Given the description of an element on the screen output the (x, y) to click on. 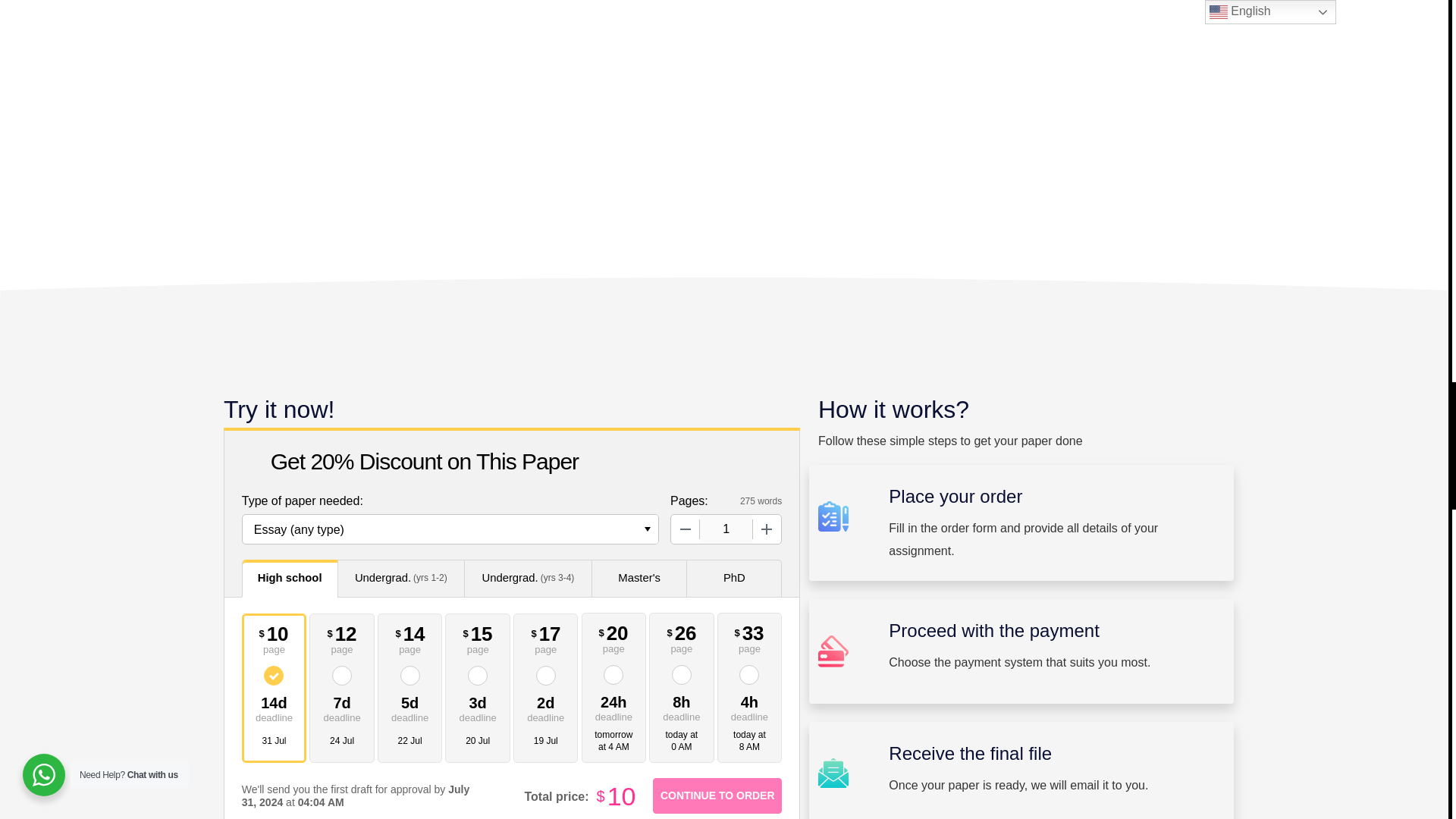
14 days (274, 707)
5 days (409, 707)
7 days (341, 707)
Increase (766, 529)
Decrease (685, 529)
8 hours (681, 706)
24 hours (614, 706)
Continue to order (716, 796)
1 (726, 529)
3 days (477, 707)
2 days (545, 707)
